Given the description of an element on the screen output the (x, y) to click on. 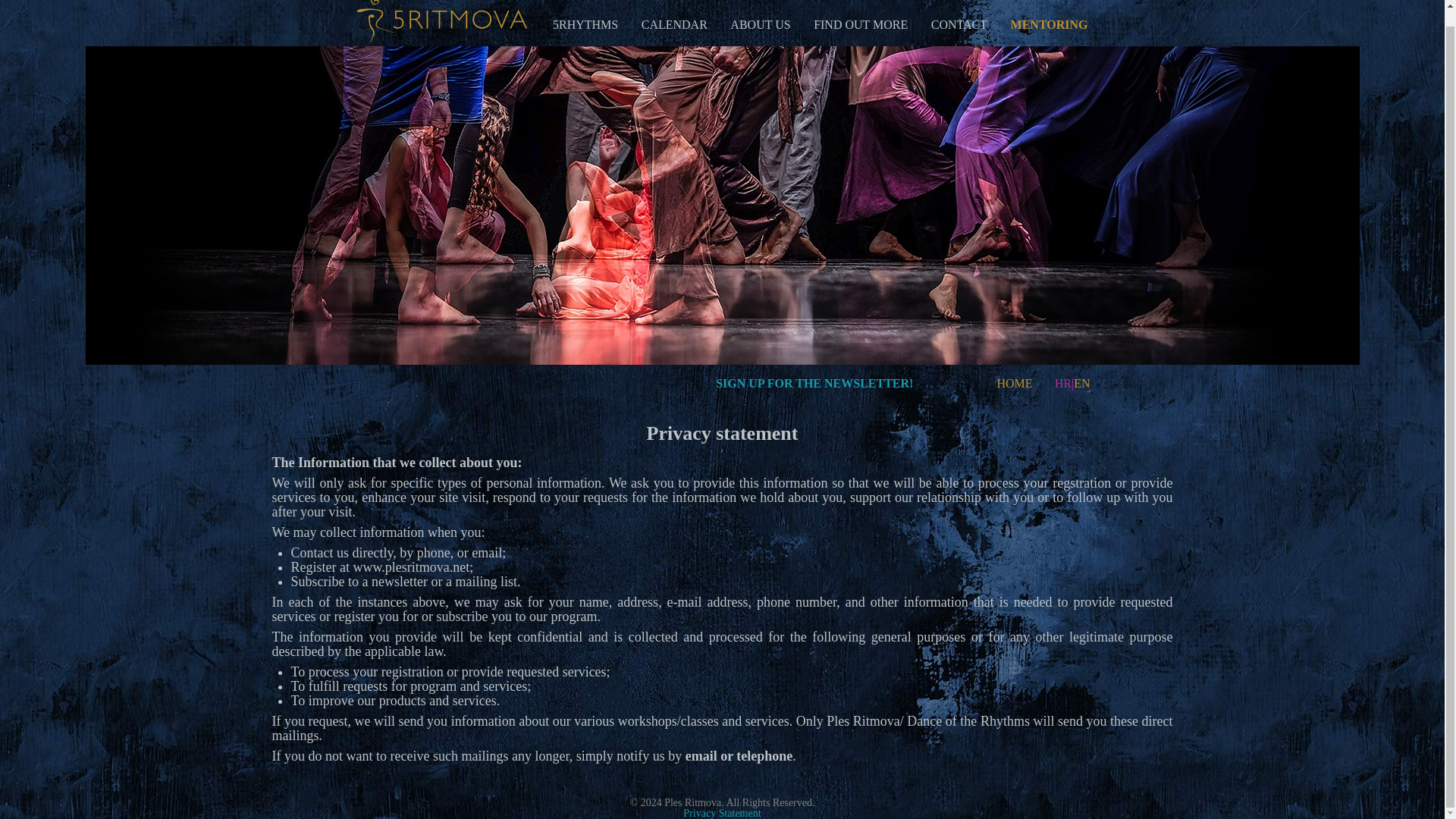
5RHYTHMS (585, 24)
FIND OUT MORE (860, 24)
MENTORING (1048, 24)
ABOUT US (760, 24)
HR (1062, 382)
EN (1081, 382)
SIGN UP FOR THE NEWSLETTER! (814, 382)
CALENDAR (674, 24)
CONTACT (959, 24)
HOME (1013, 382)
